Given the description of an element on the screen output the (x, y) to click on. 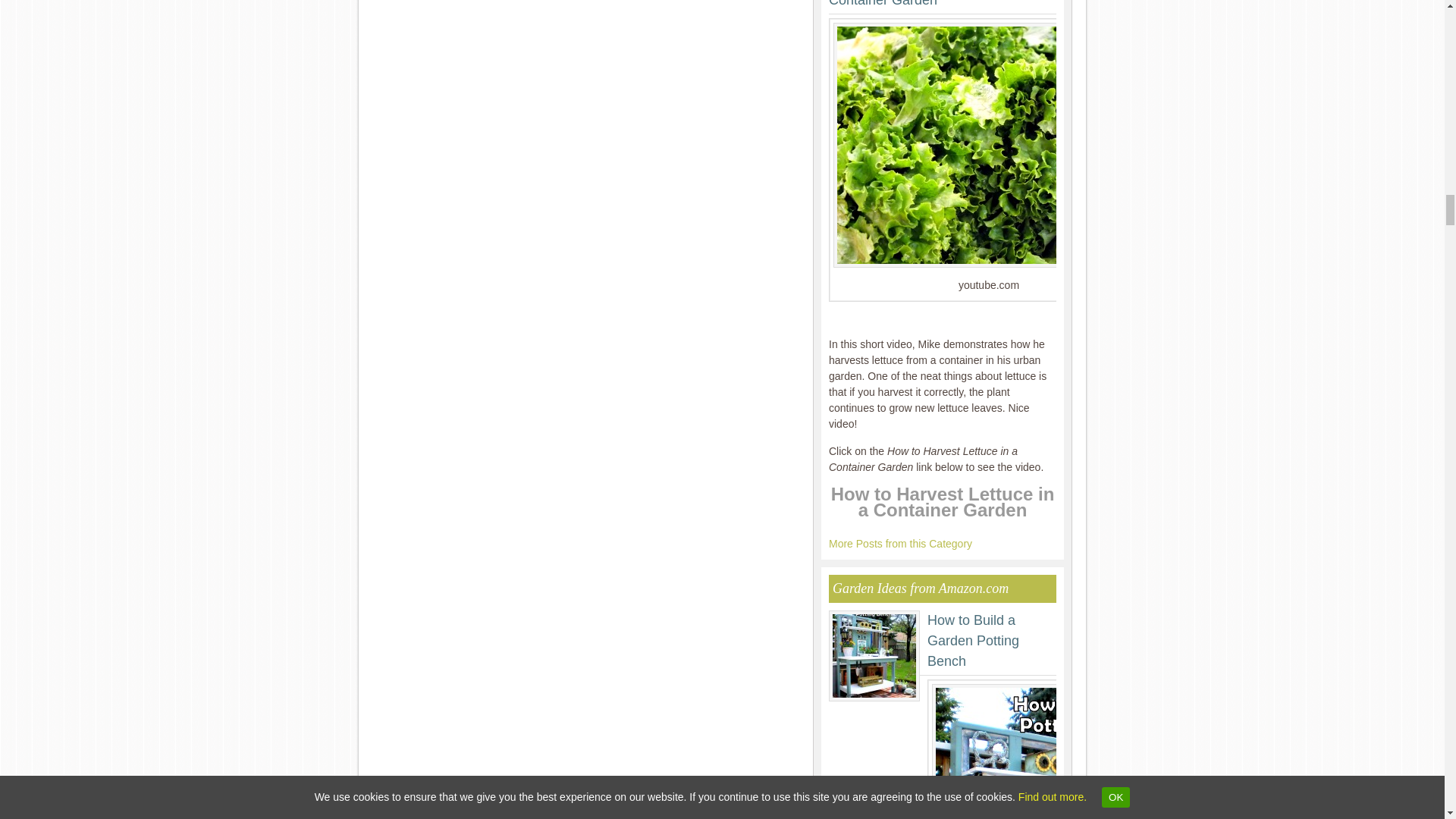
How to Harvest Lettuce in a Container Garden (911, 3)
How to Harvest Lettuce in a Container Garden (942, 502)
More Posts from this Category (900, 543)
How to Build a Garden Potting Bench (973, 640)
